Given the description of an element on the screen output the (x, y) to click on. 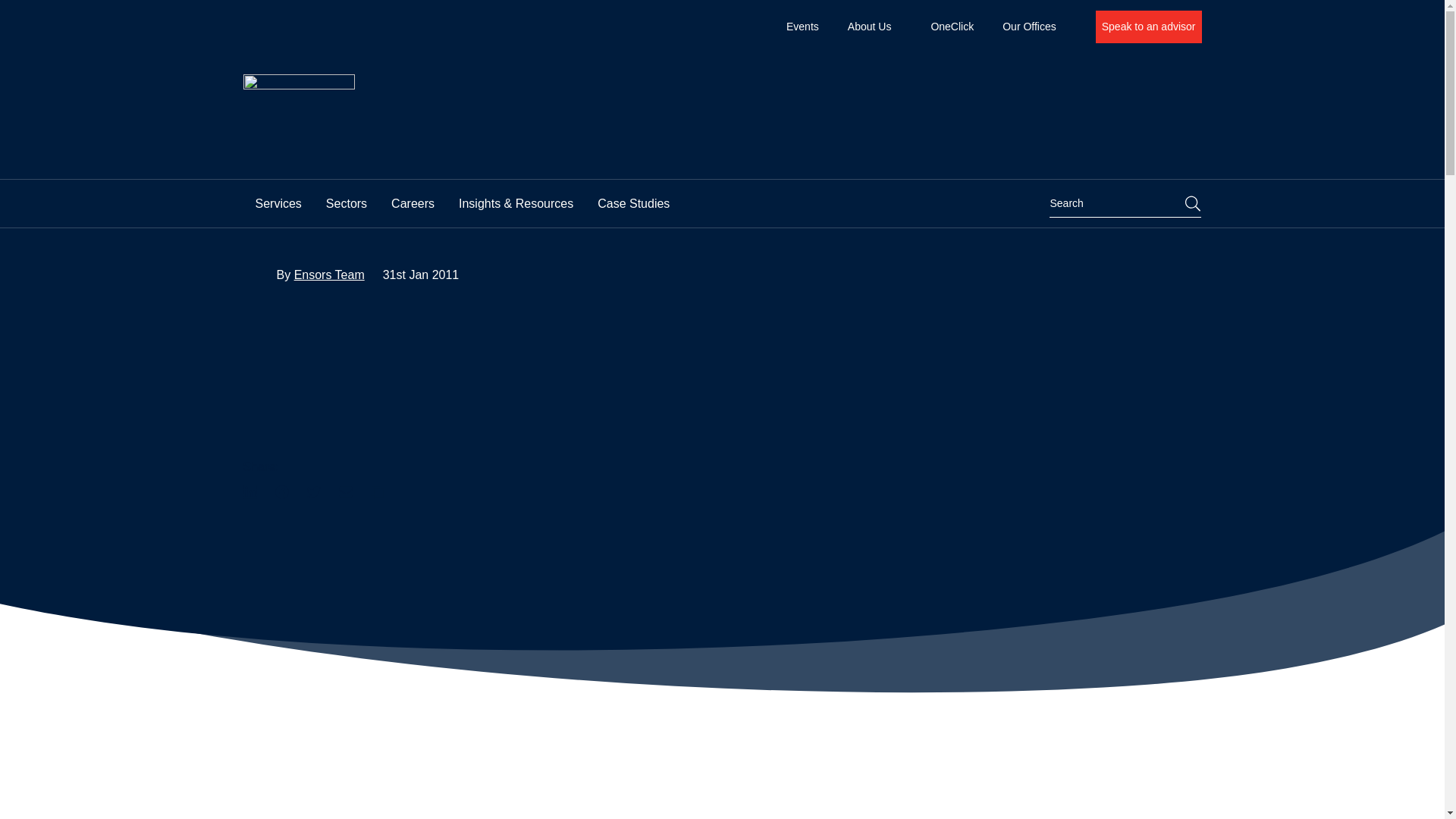
Share on Twitter (312, 491)
Services (278, 203)
OneClick (952, 26)
Share on Twitter (344, 491)
Our Offices (1034, 26)
Share on Facebook (281, 491)
Events (802, 26)
Speak to an advisor (1149, 26)
About Us (874, 26)
